Given the description of an element on the screen output the (x, y) to click on. 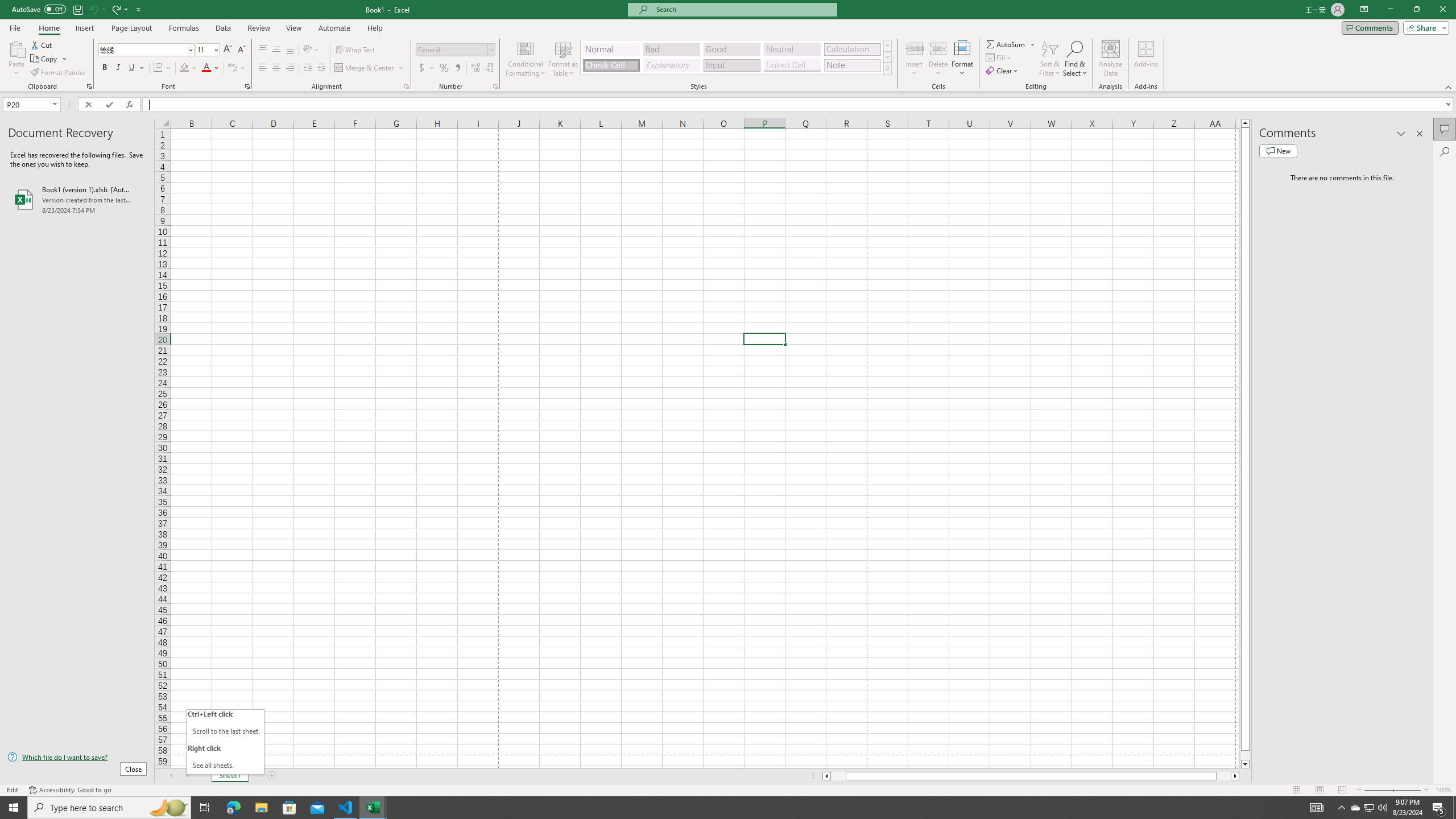
Merge & Center (365, 67)
Fill Color RGB(255, 255, 0) (183, 67)
Align Left (262, 67)
Conditional Formatting (525, 58)
Bad (671, 49)
Number Format (451, 49)
Neutral (791, 49)
